Given the description of an element on the screen output the (x, y) to click on. 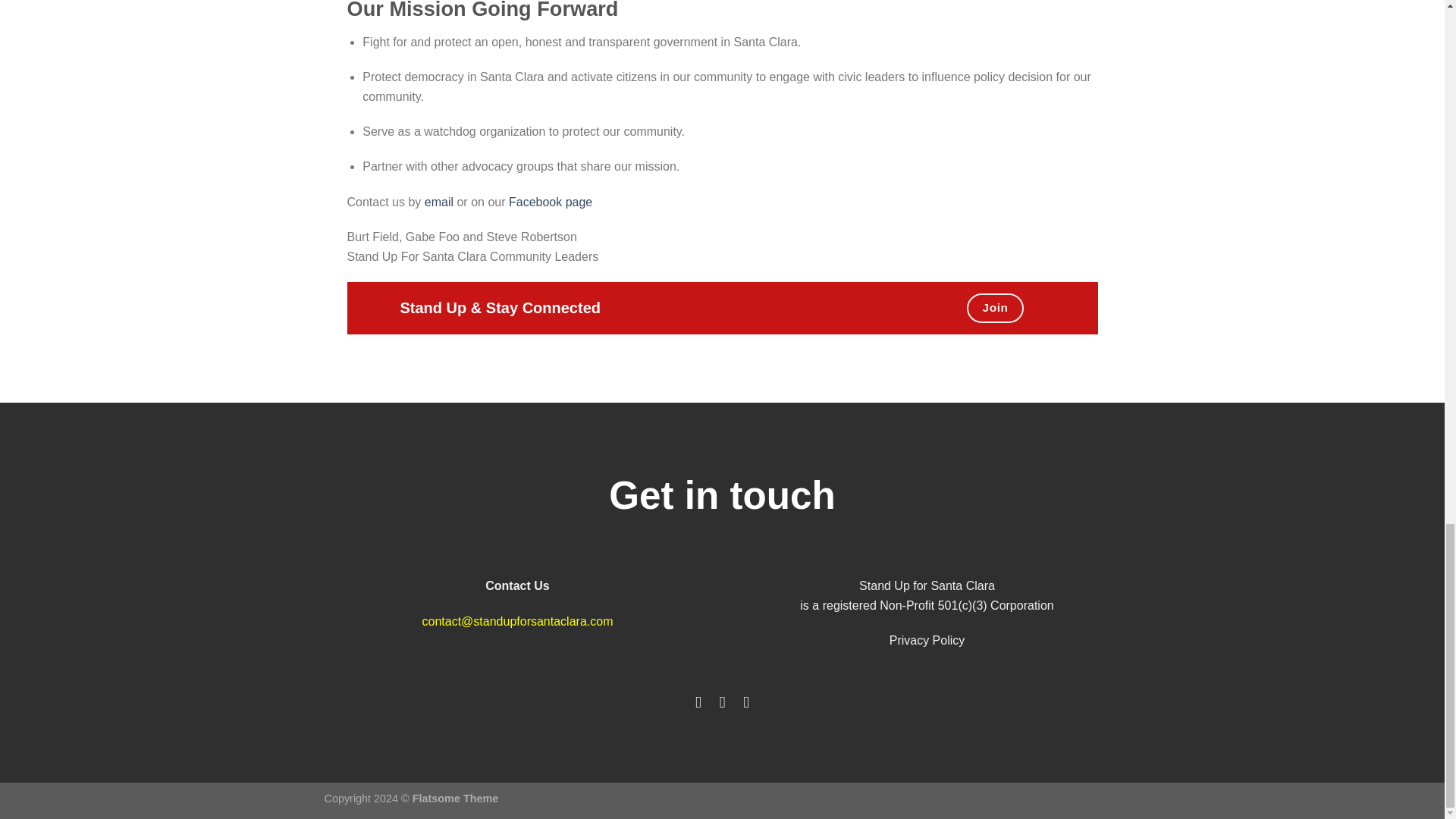
Send us an email (746, 701)
Join (994, 307)
email (438, 201)
Follow on Twitter (722, 701)
Follow on Facebook (698, 701)
Facebook page (550, 201)
